Given the description of an element on the screen output the (x, y) to click on. 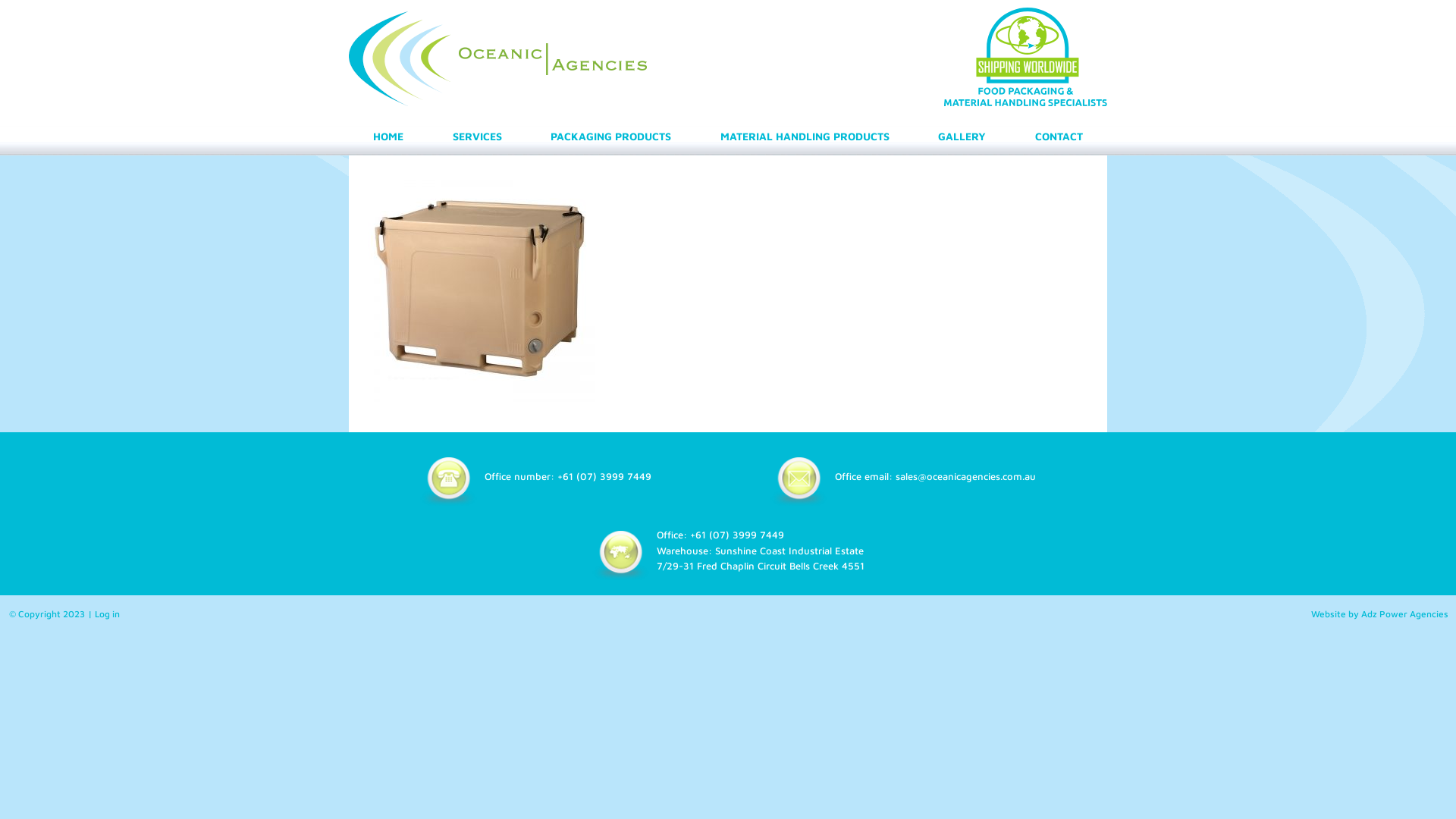
+61 (07) 3999 7449 Element type: text (604, 476)
CONTACT Element type: text (1058, 136)
GALLERY Element type: text (961, 136)
MATERIAL HANDLING PRODUCTS Element type: text (804, 136)
+61 (07) 3999 7449 Element type: text (737, 534)
HOME Element type: text (388, 136)
Log in Element type: text (106, 613)
SERVICES Element type: text (477, 136)
PACKAGING PRODUCTS Element type: text (610, 136)
Website by Adz Power Agencies Element type: text (1379, 613)
sales@oceanicagencies.com.au Element type: text (965, 476)
